Given the description of an element on the screen output the (x, y) to click on. 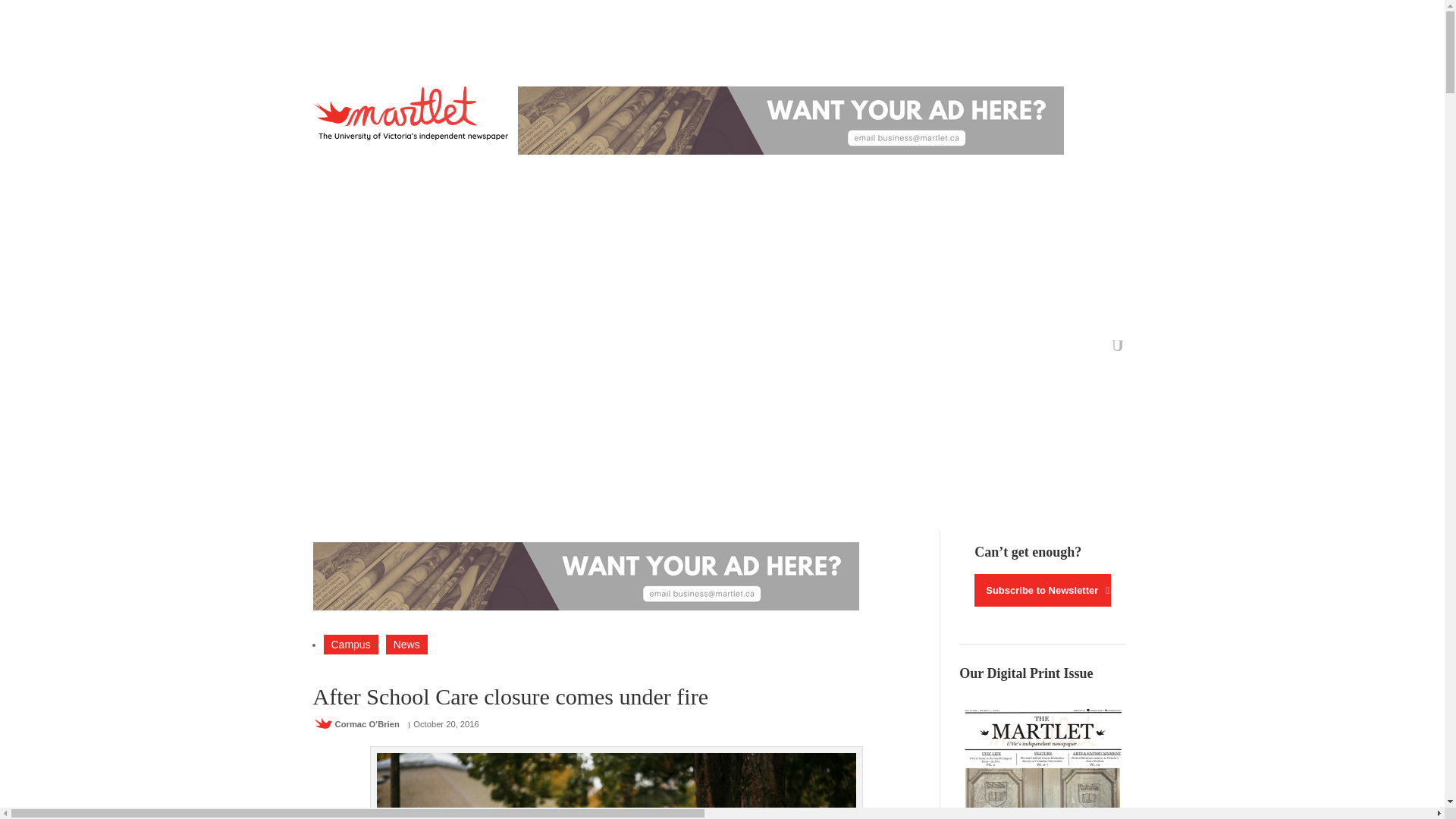
Opinions (376, 348)
Campus (350, 644)
Subscribe to Newsletter (1042, 590)
Culture (489, 348)
Features (435, 348)
About (686, 348)
martlet-logo-2022 (414, 113)
Humour (637, 348)
Jobs (729, 348)
News (326, 348)
News (406, 644)
Our Digital Print Issue (1042, 760)
More (776, 348)
